Given the description of an element on the screen output the (x, y) to click on. 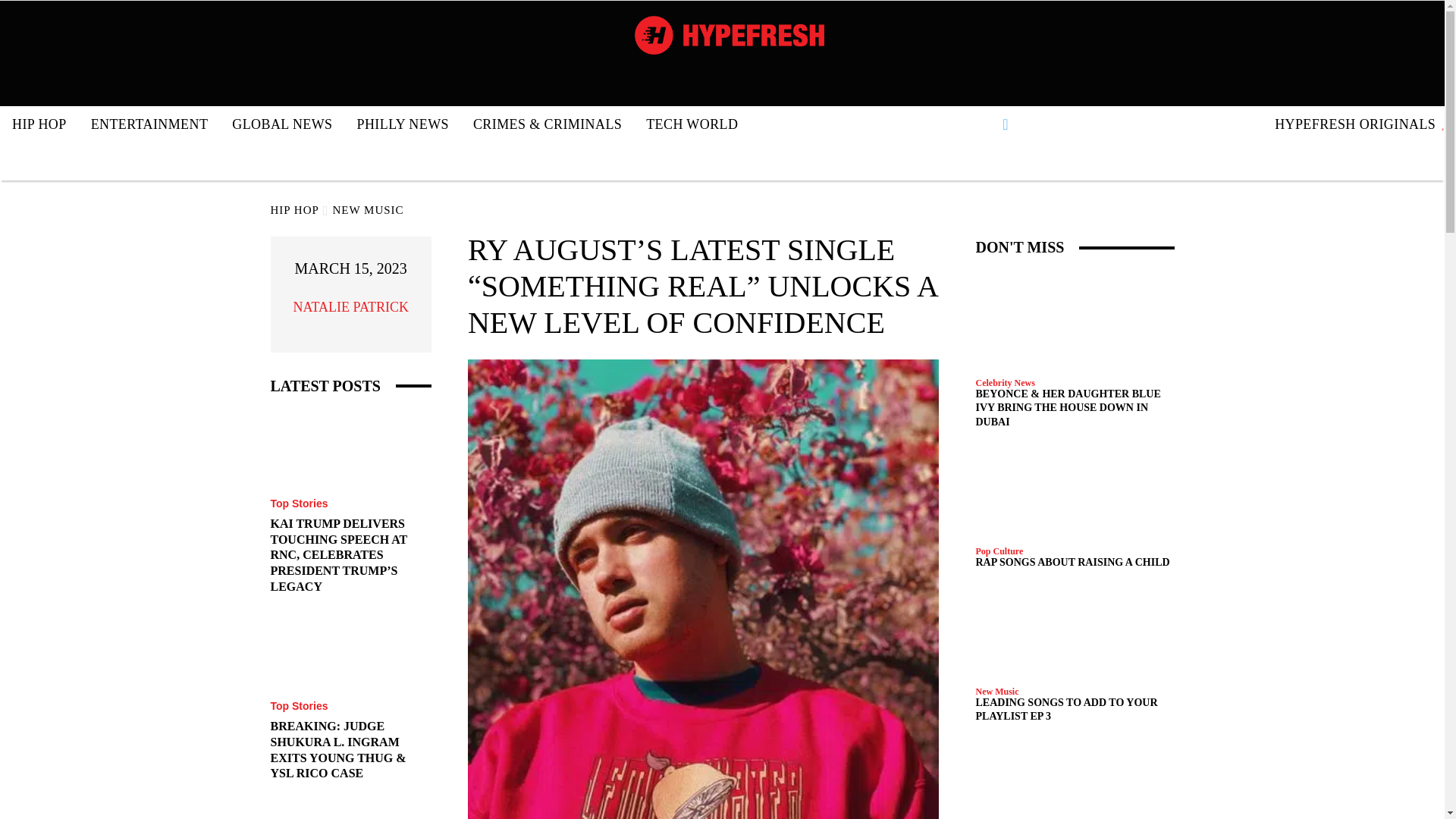
HIP HOP (39, 124)
